Given the description of an element on the screen output the (x, y) to click on. 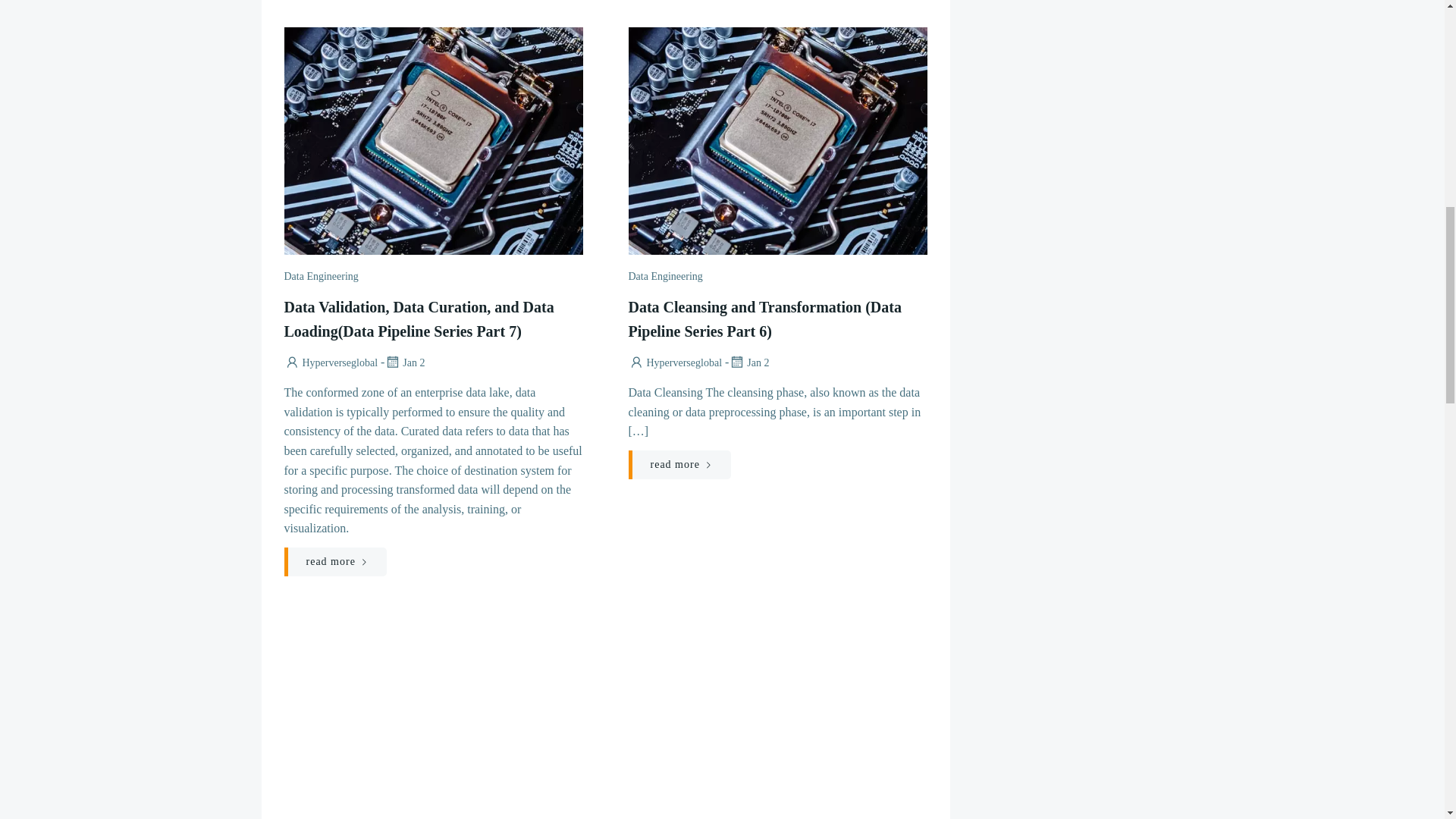
Hyperverseglobal (330, 362)
Jan 2 (404, 362)
Data Engineering (320, 276)
read more (334, 561)
